Given the description of an element on the screen output the (x, y) to click on. 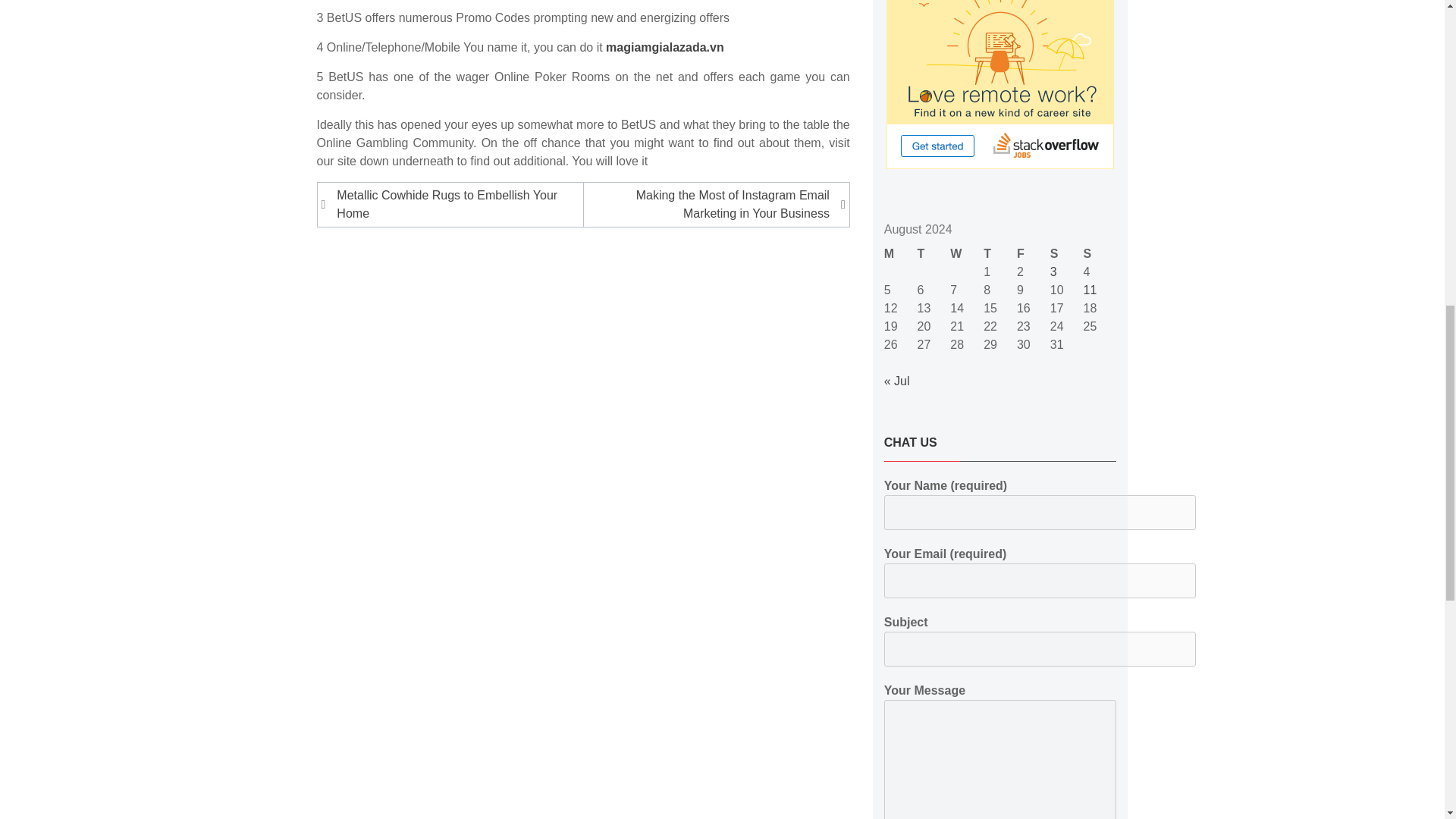
Saturday (1066, 253)
Monday (900, 253)
Friday (1032, 253)
magiamgialazada.vn (664, 47)
Metallic Cowhide Rugs to Embellish Your Home (451, 204)
Sunday (1099, 253)
11 (1090, 289)
Thursday (1000, 253)
Wednesday (967, 253)
